Given the description of an element on the screen output the (x, y) to click on. 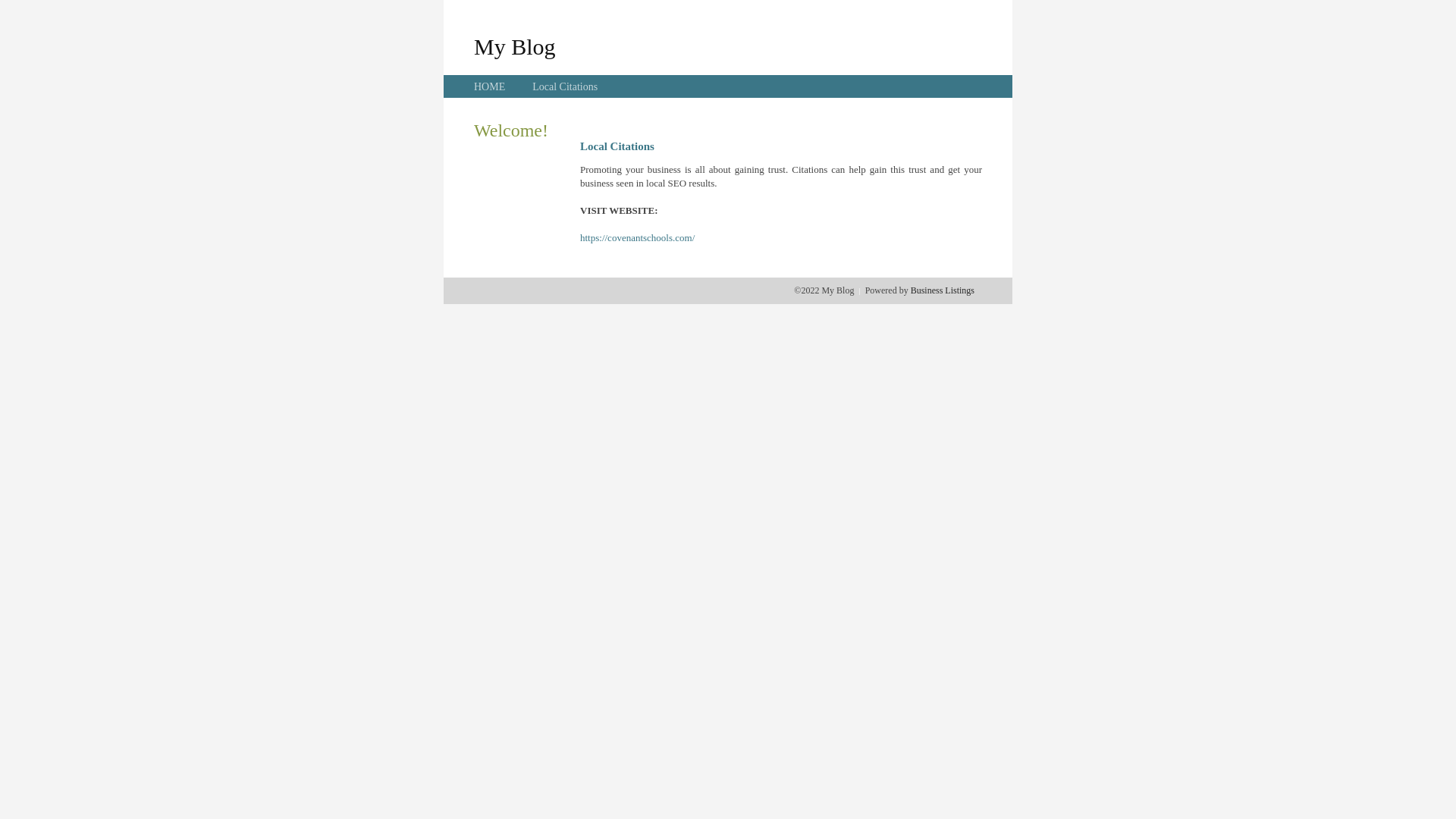
HOME Element type: text (489, 86)
https://covenantschools.com/ Element type: text (637, 237)
Local Citations Element type: text (564, 86)
My Blog Element type: text (514, 46)
Business Listings Element type: text (942, 290)
